Given the description of an element on the screen output the (x, y) to click on. 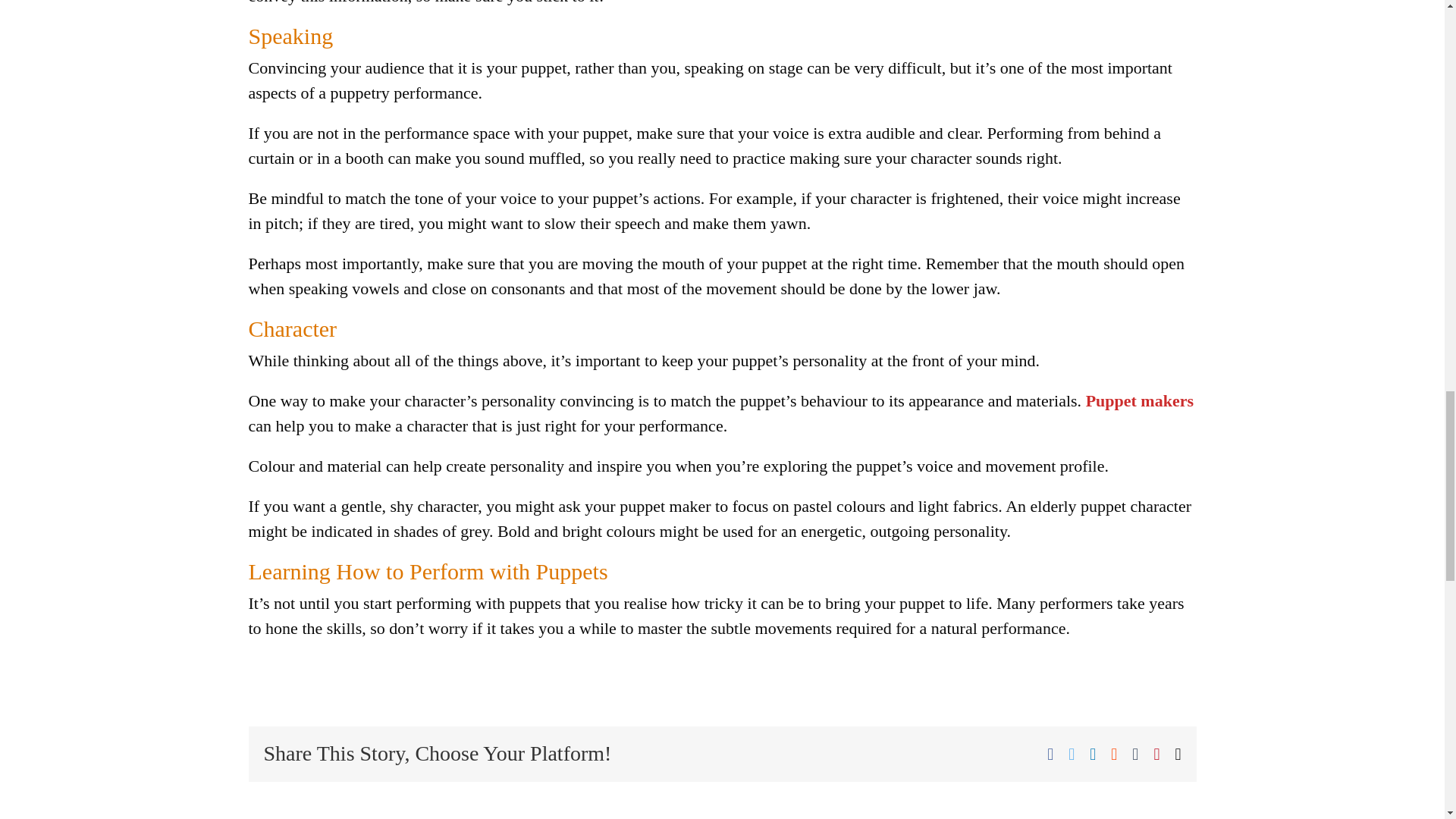
Puppet makers (1139, 400)
